Given the description of an element on the screen output the (x, y) to click on. 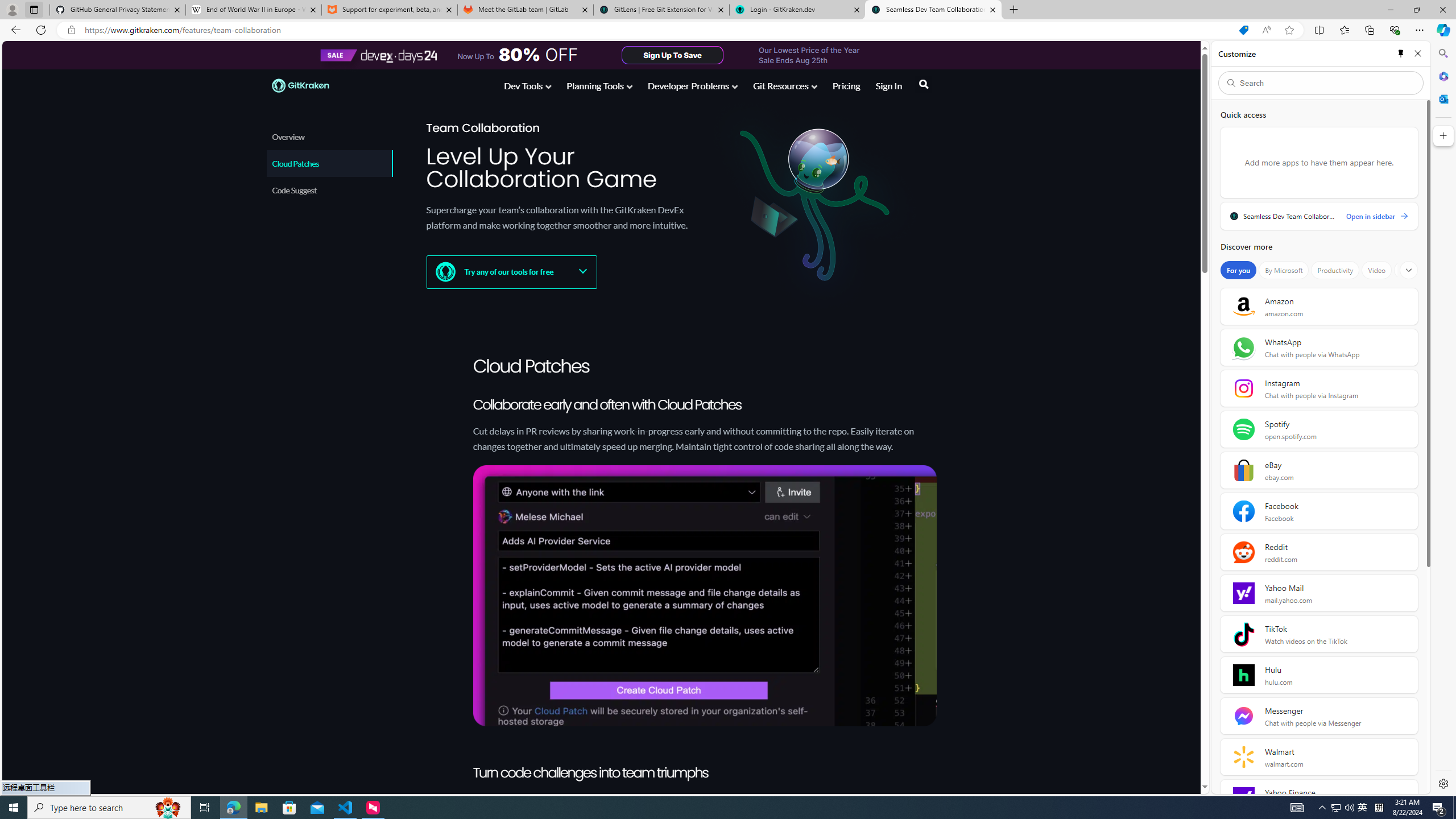
Meet the GitLab team | GitLab (525, 9)
Cloud Patches (328, 163)
Cloud Patches (329, 162)
Sign In (888, 85)
Sign In (888, 87)
GitHub General Privacy Statement - GitHub Docs (117, 9)
